Given the description of an element on the screen output the (x, y) to click on. 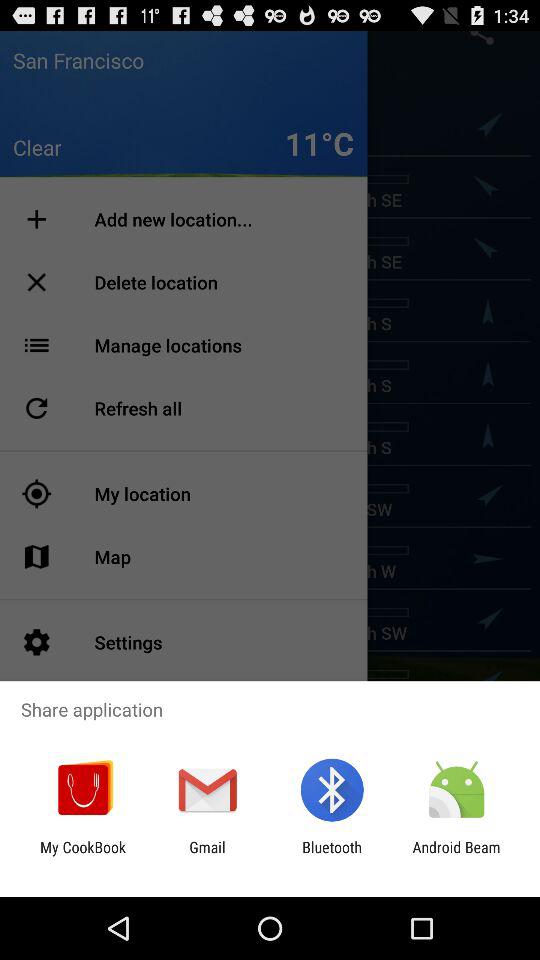
launch app next to bluetooth item (456, 856)
